Given the description of an element on the screen output the (x, y) to click on. 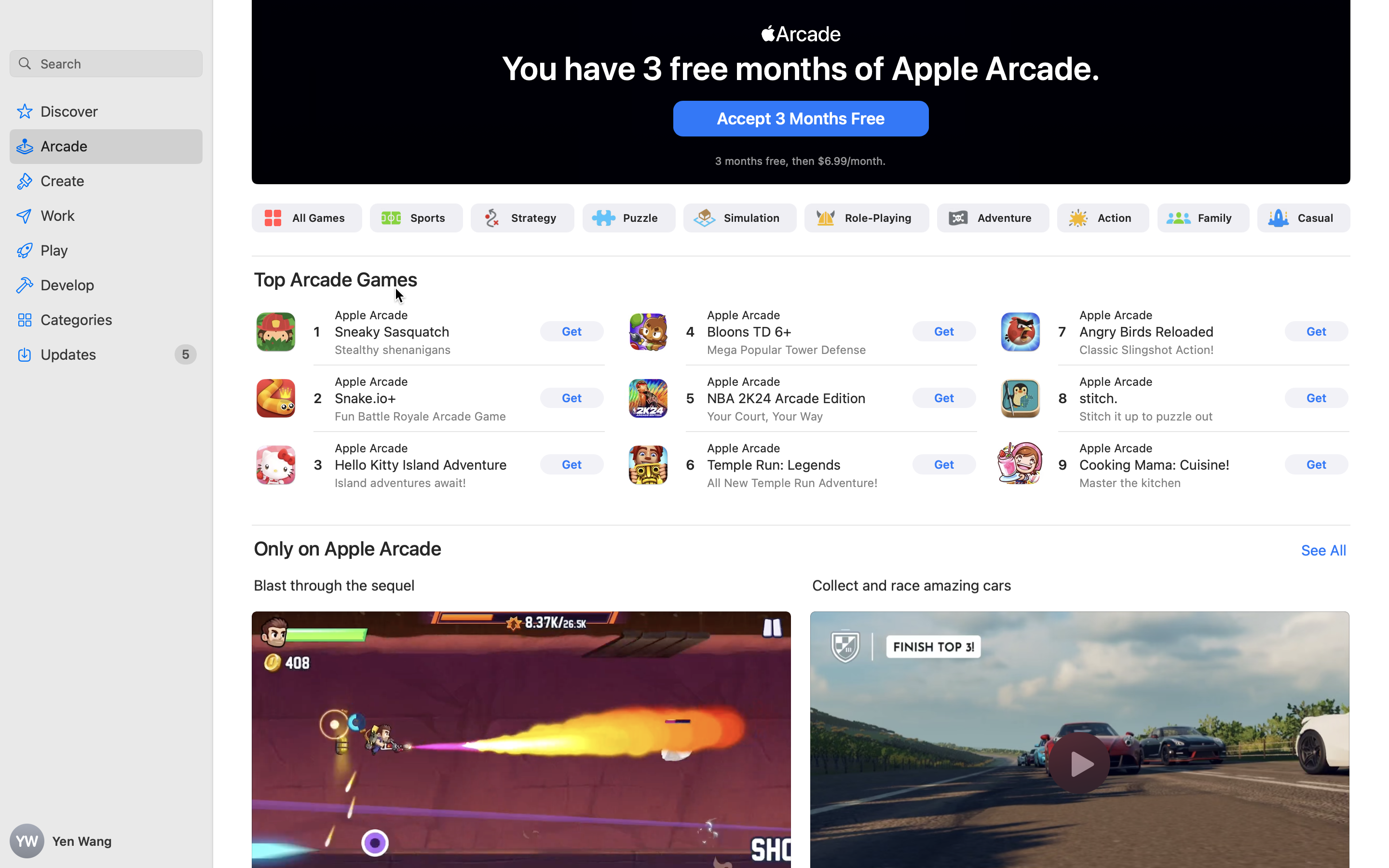
Action Element type: AXStaticText (1114, 217)
Strategy Element type: AXStaticText (534, 217)
Sports Element type: AXStaticText (427, 217)
Simulation Element type: AXStaticText (751, 217)
3 months free, then $6.99/month. Element type: AXStaticText (800, 160)
